Given the description of an element on the screen output the (x, y) to click on. 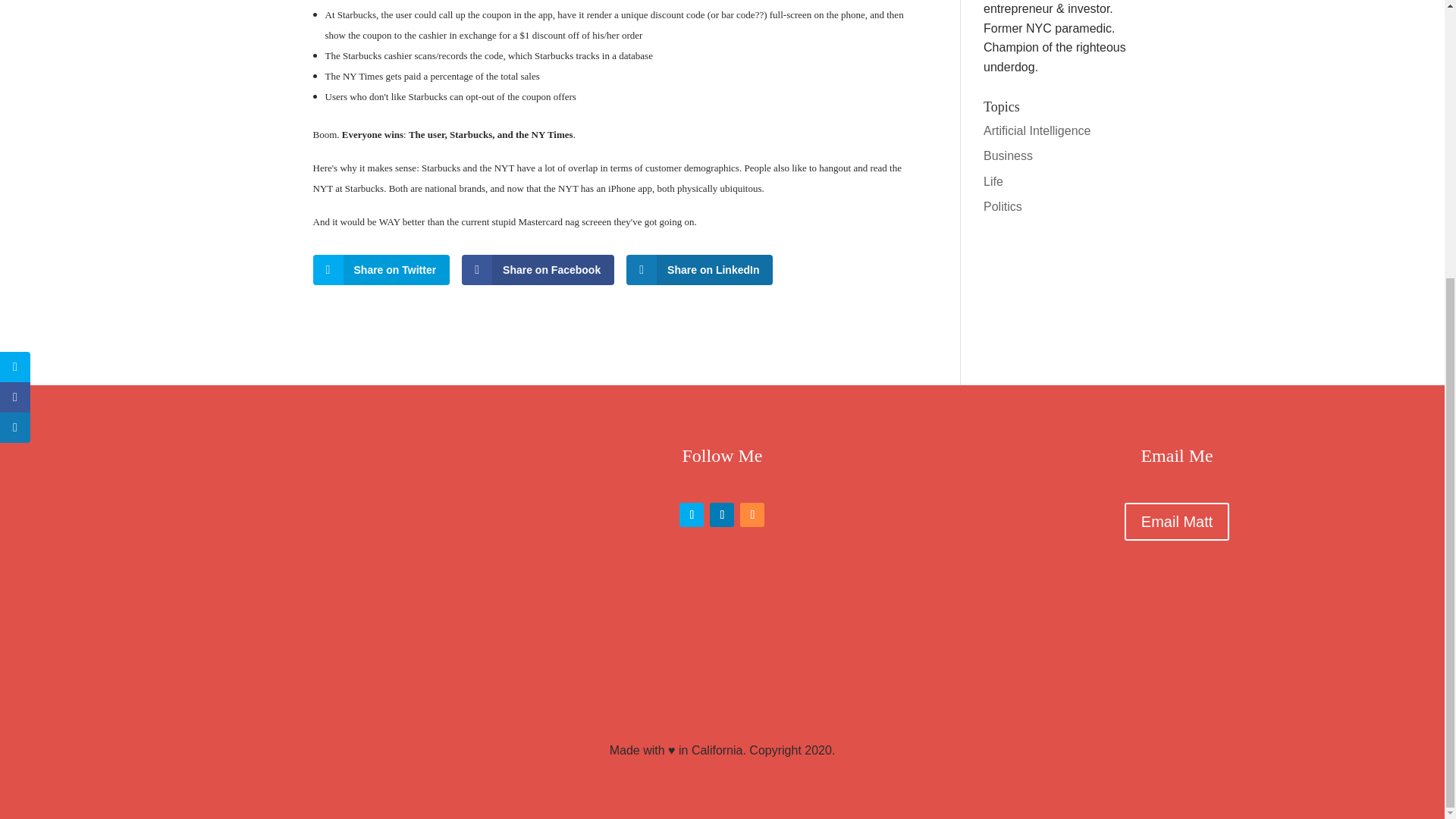
Business (1008, 155)
Share on LinkedIn (699, 269)
Politics (1003, 205)
Artificial Intelligence (1037, 130)
Email Matt (1176, 521)
Follow on RSS (751, 514)
Life (993, 181)
Share on Facebook (537, 269)
Follow on Twitter (691, 514)
Share on Twitter (381, 269)
